Given the description of an element on the screen output the (x, y) to click on. 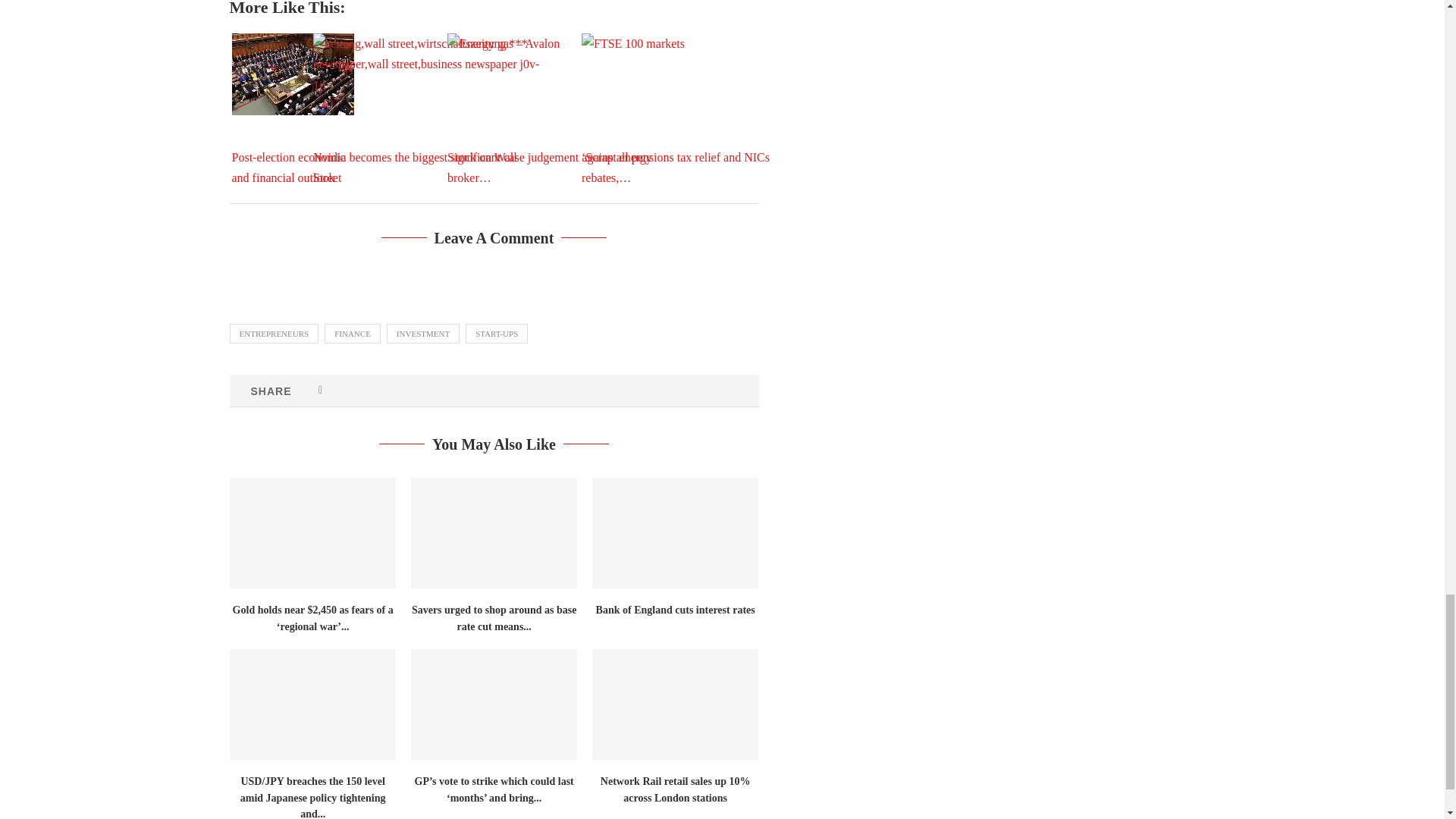
Bank of England cuts interest rates (675, 532)
Post-election economic and financial outlook (292, 73)
Nvidia becomes the biggest stock on Wall Street (426, 109)
